Given the description of an element on the screen output the (x, y) to click on. 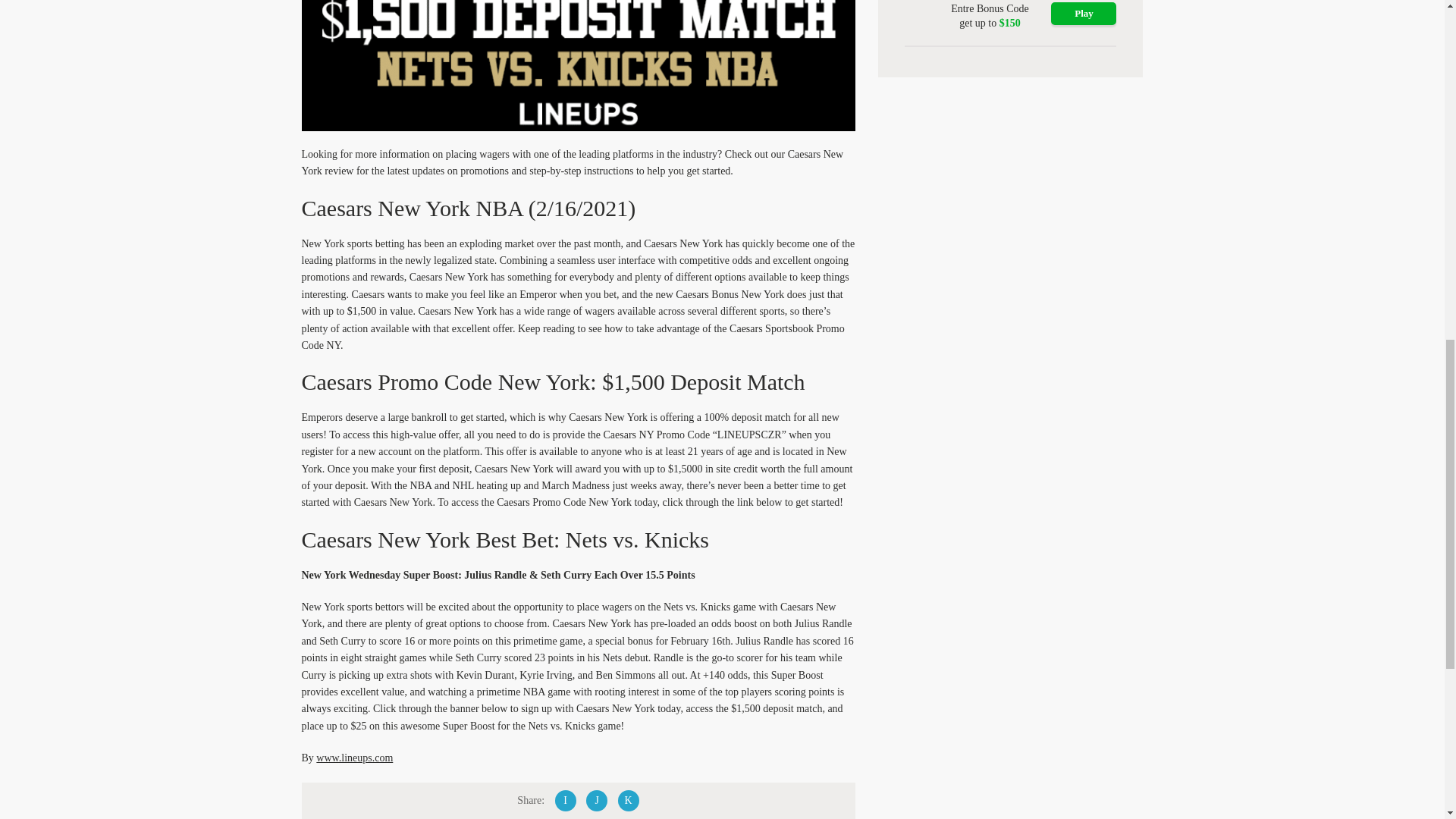
Share on Facebook (565, 800)
Share by email (628, 800)
Share on Twitter (596, 800)
www.lineups.com (354, 757)
Play (1083, 13)
